Given the description of an element on the screen output the (x, y) to click on. 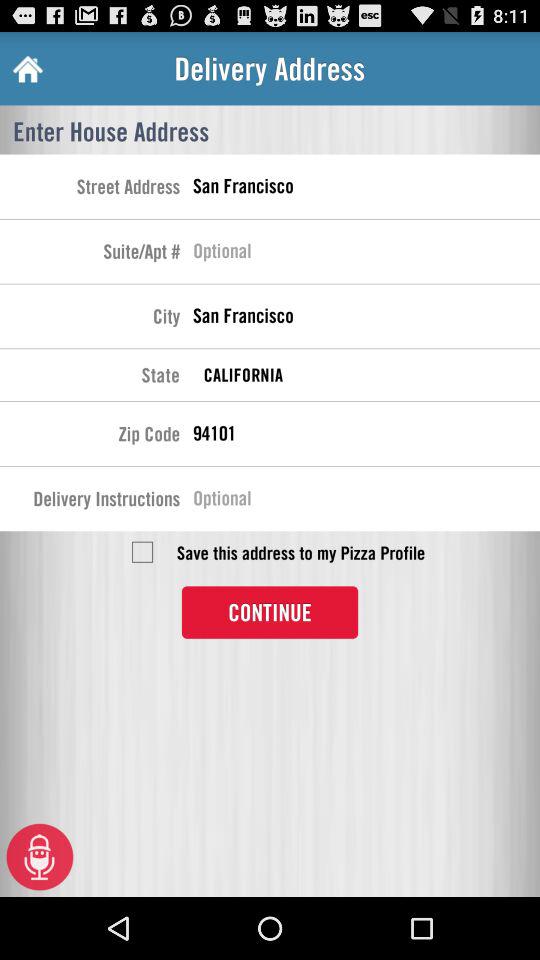
place to enter suite or apt number (366, 253)
